Given the description of an element on the screen output the (x, y) to click on. 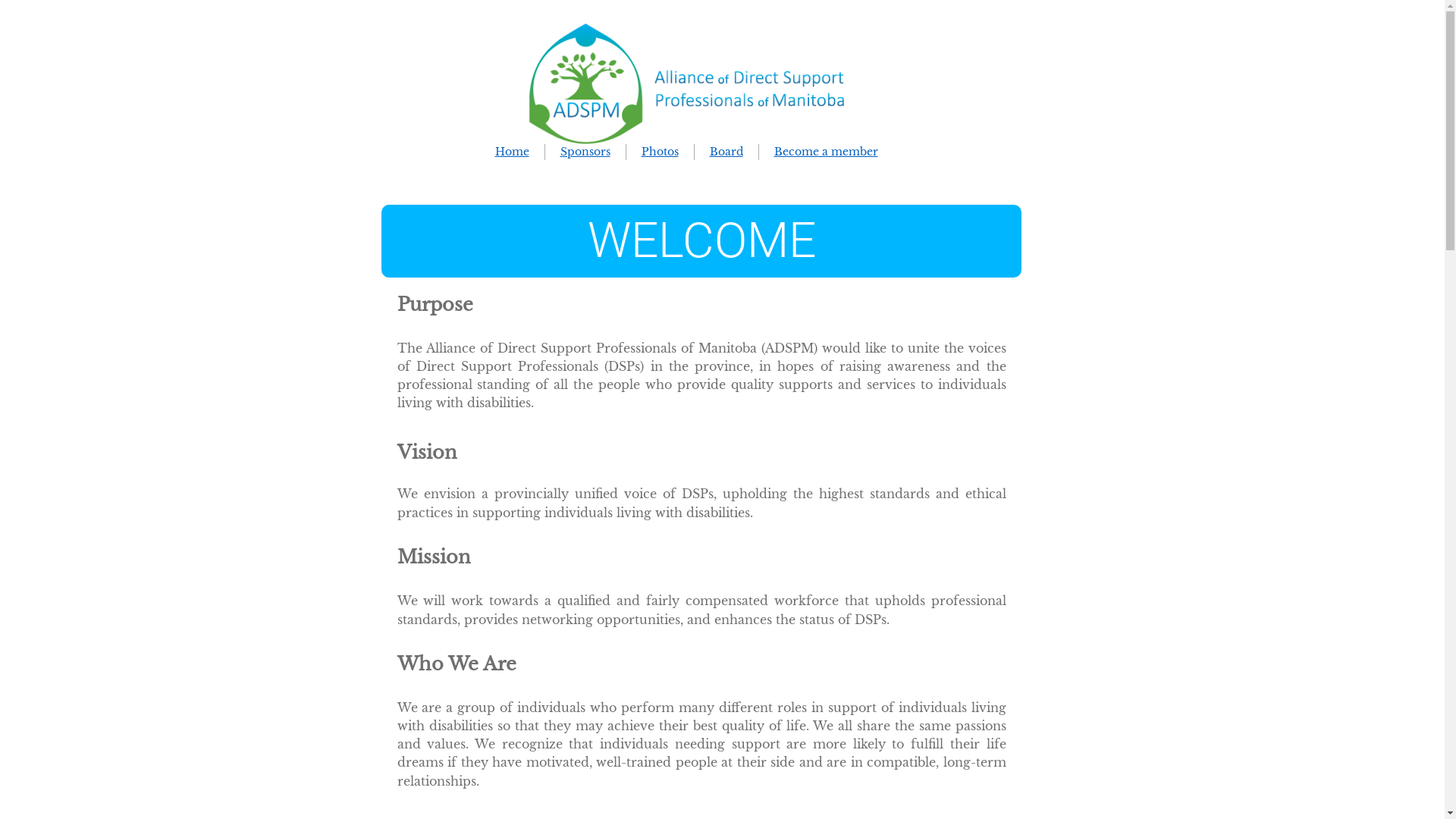
Photos Element type: text (659, 151)
Home Element type: text (511, 151)
Sponsors Element type: text (584, 151)
Become a member Element type: text (825, 151)
Board Element type: text (726, 151)
